Given the description of an element on the screen output the (x, y) to click on. 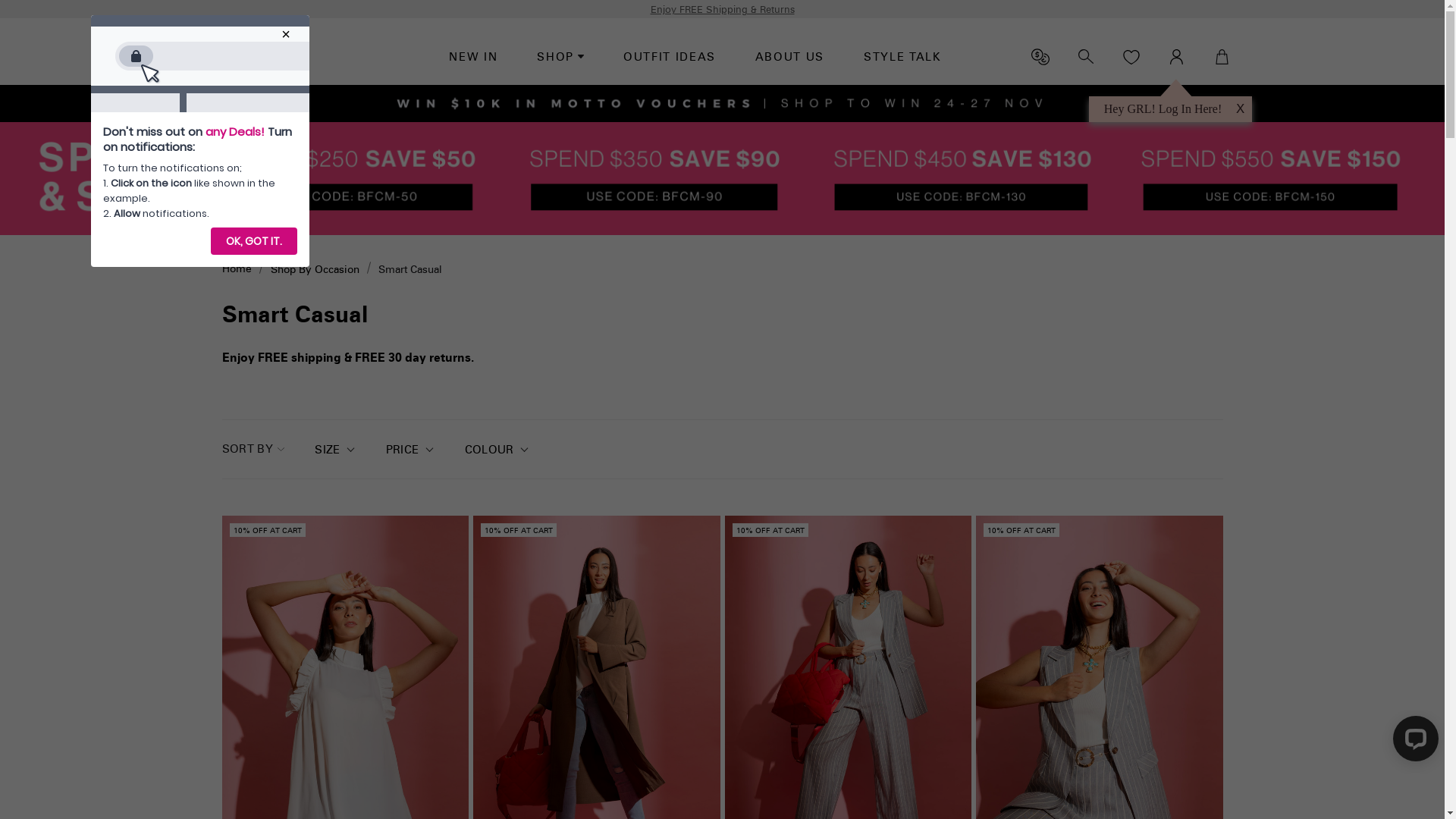
STYLE TALK Element type: text (902, 57)
Enjoy FREE Shipping & Returns Element type: text (722, 9)
ABOUT US Element type: text (789, 57)
Shop By Occasion Element type: text (313, 269)
Home Element type: text (236, 268)
Motto Element type: hover (256, 56)
NEW IN Element type: text (472, 57)
SHOP Element type: text (560, 57)
OUTFIT IDEAS Element type: text (669, 57)
LiveChat chat widget Element type: hover (1412, 741)
COLOUR Element type: text (496, 449)
Smart Casual Element type: text (409, 269)
PRICE Element type: text (409, 449)
SIZE Element type: text (334, 449)
